Given the description of an element on the screen output the (x, y) to click on. 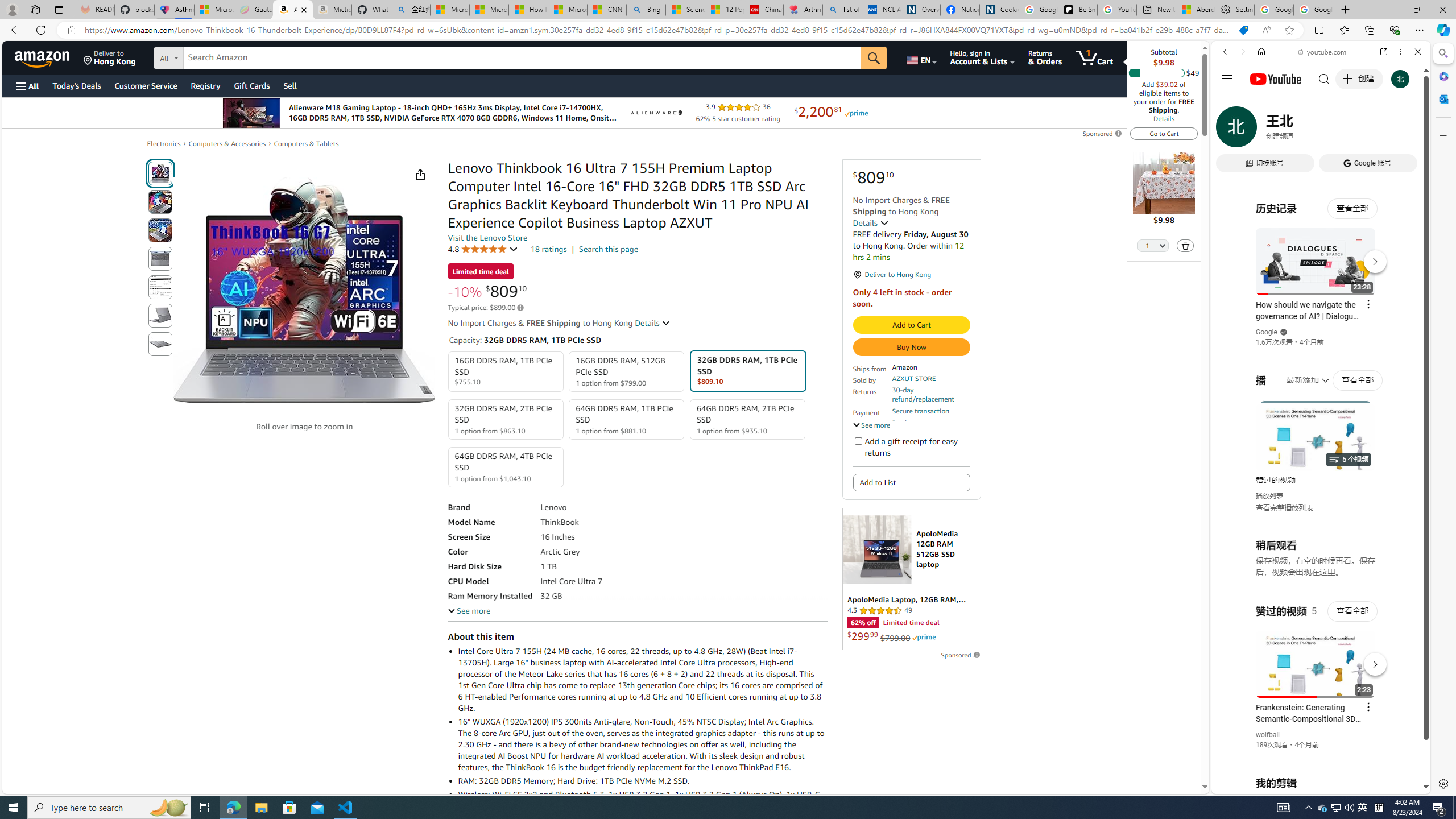
Go to Cart (1163, 133)
Learn more about Amazon pricing and savings (520, 307)
Customer Service (145, 85)
32GB DDR5 RAM, 1TB PCIe SSD $809.10 (747, 370)
Product support included (930, 427)
Buy Now (911, 347)
Add to List (911, 482)
Share (419, 174)
